Given the description of an element on the screen output the (x, y) to click on. 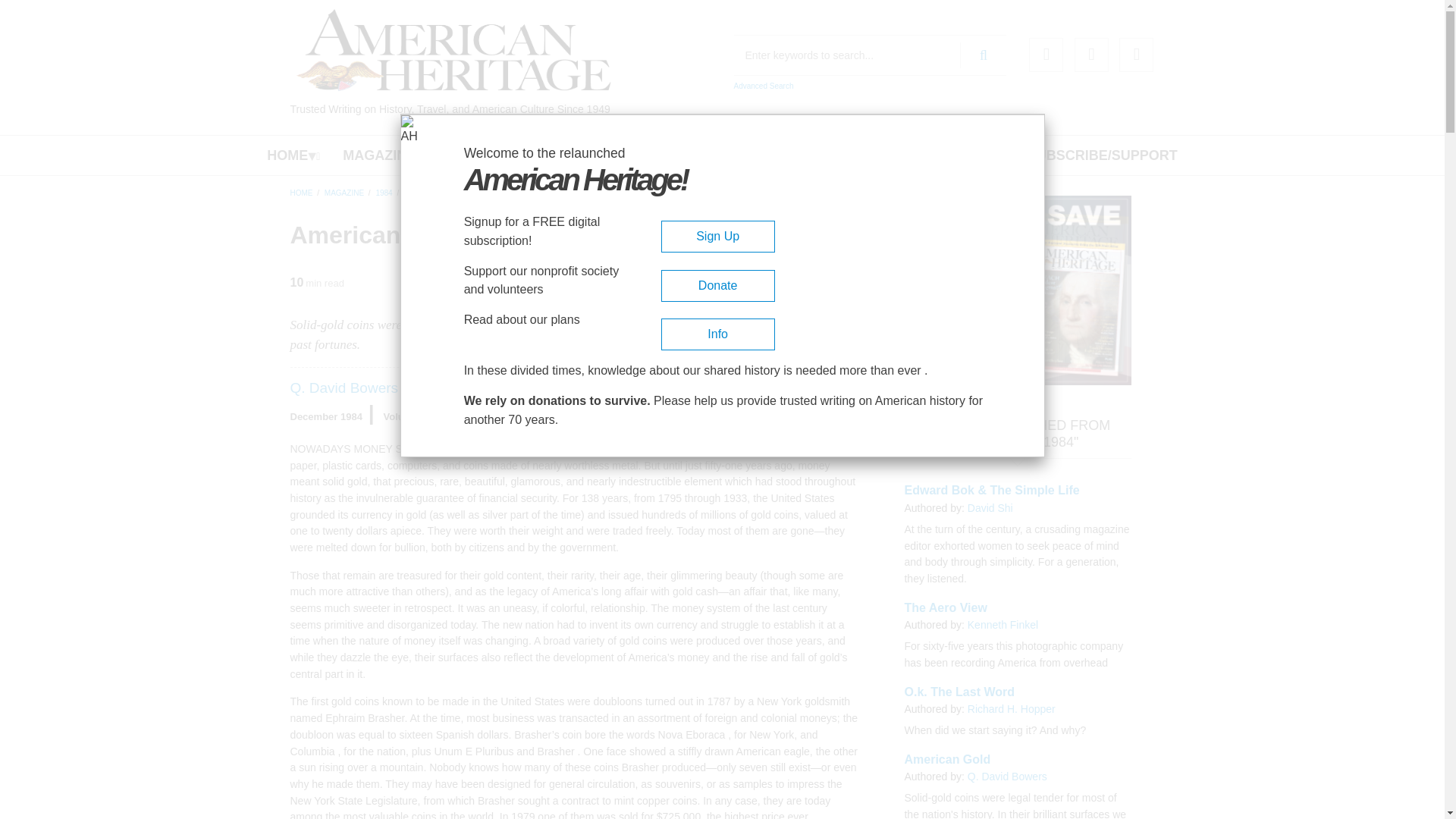
RSS (1136, 54)
Enter the terms you wish to search for. (870, 55)
Facebook (1045, 54)
Twitter (1091, 54)
Search (982, 54)
Home (453, 50)
Advanced Search (763, 85)
Search (982, 54)
Search (982, 54)
